Given the description of an element on the screen output the (x, y) to click on. 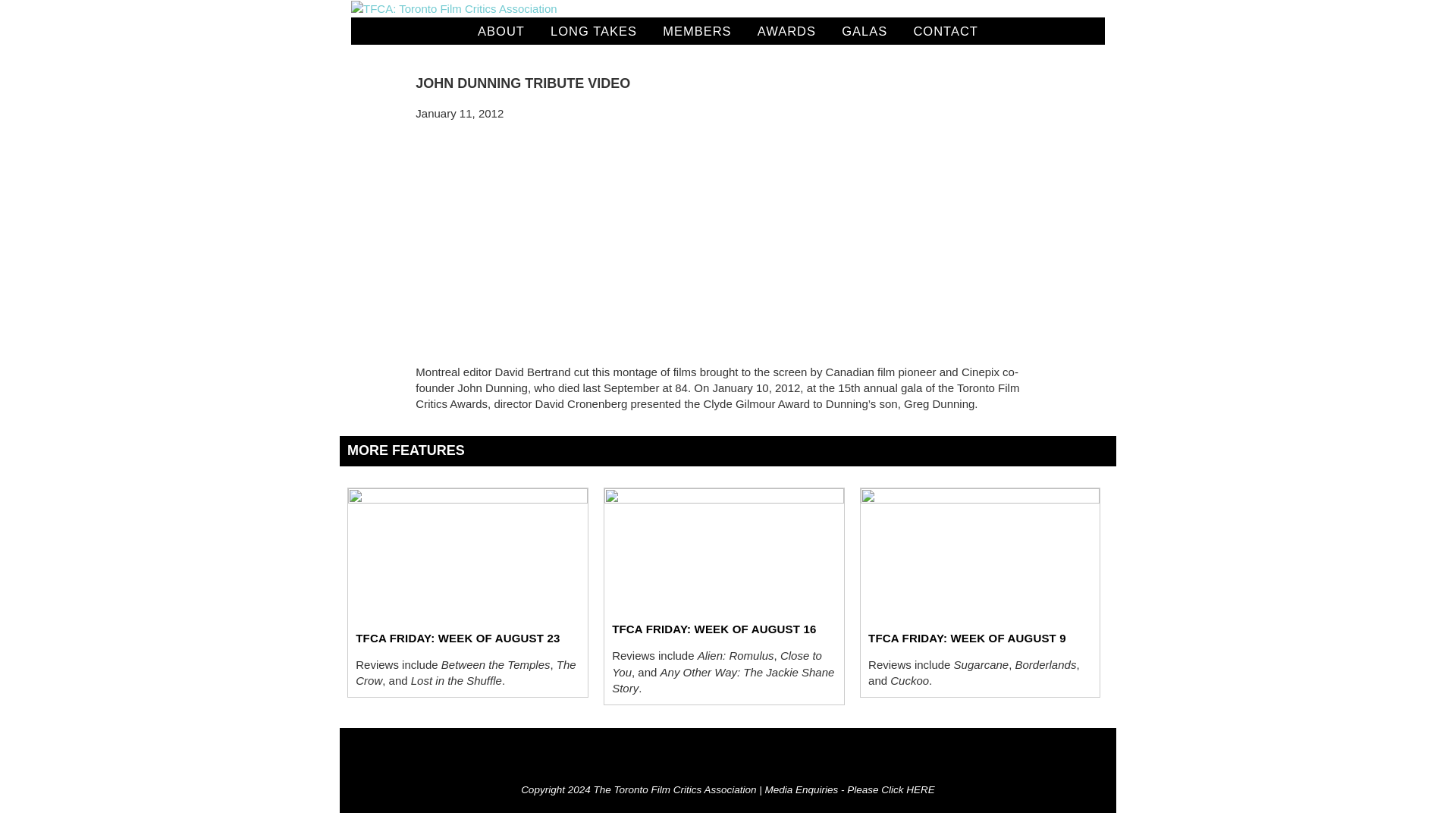
Long Takes (592, 31)
ABOUT (500, 31)
LONG TAKES (592, 31)
MEMBERS (696, 31)
Members (696, 31)
TFCA Friday: Week of August 23 (466, 554)
TFCA FRIDAY: WEEK OF AUGUST 23 (457, 637)
TFCA: TORONTO FILM CRITICS ASSOCIATION (453, 7)
TFCA Friday: Week of August 23 (457, 637)
About (500, 31)
